Given the description of an element on the screen output the (x, y) to click on. 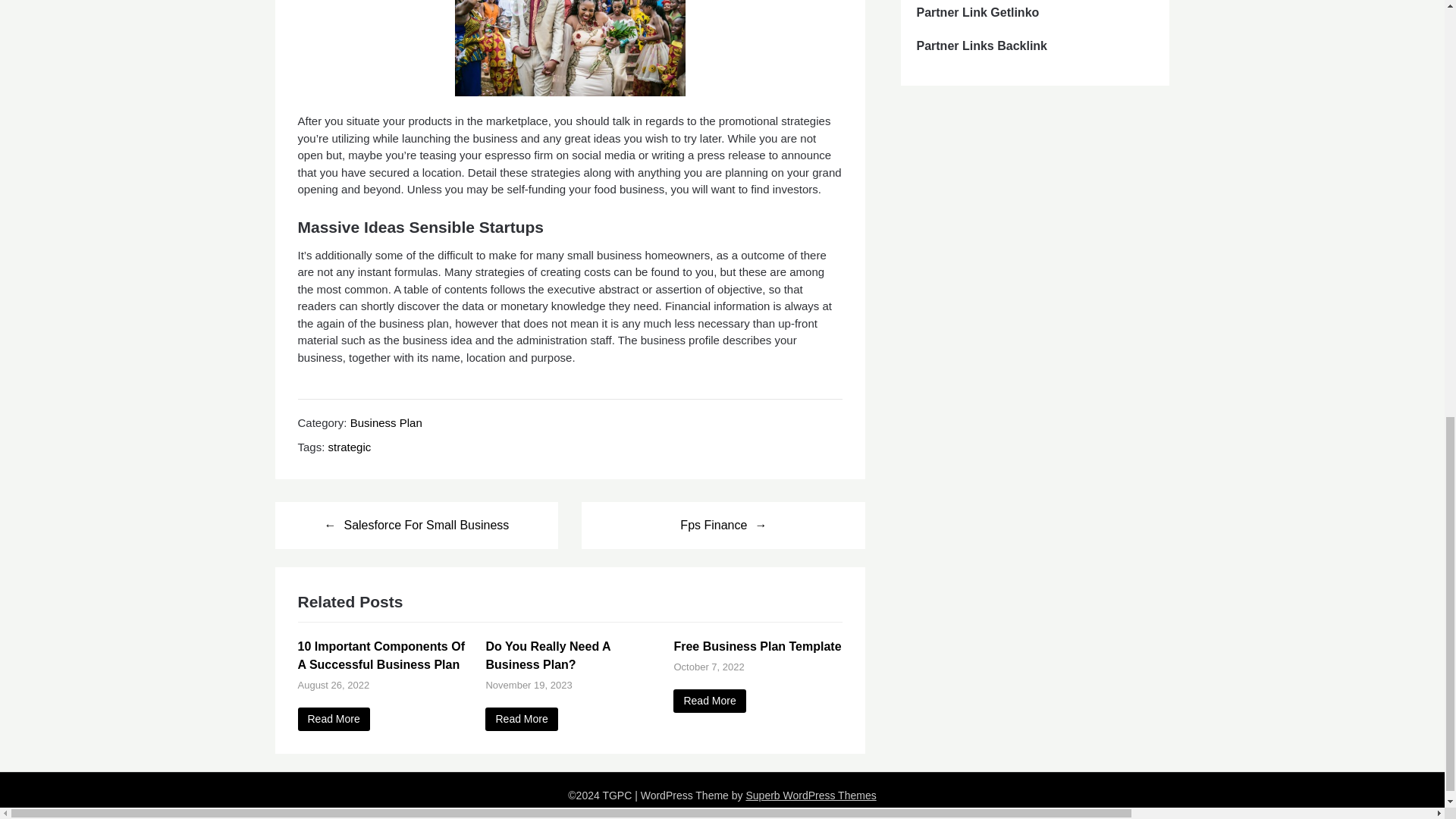
Read More (333, 719)
Do You Really Need A Business Plan? (547, 654)
Do You Really Need A Business Plan? (520, 719)
Read More (520, 719)
Free Business Plan Template (708, 700)
Salesforce For Small Business (416, 525)
Read More (708, 700)
10 Important Components Of A Successful Business Plan (333, 719)
strategic (350, 446)
Fps Finance (722, 525)
